Given the description of an element on the screen output the (x, y) to click on. 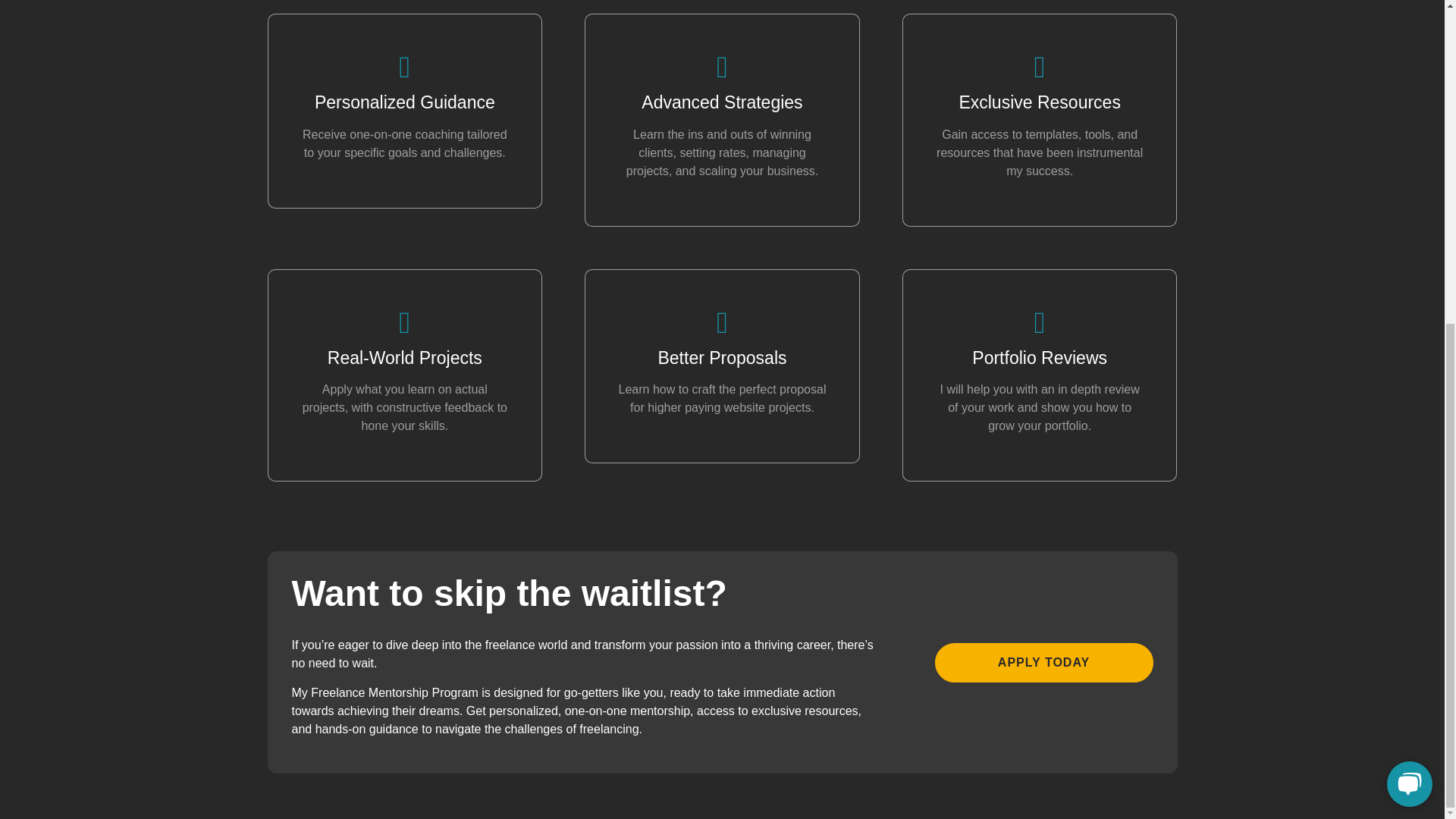
APPLY TODAY (1043, 662)
